Given the description of an element on the screen output the (x, y) to click on. 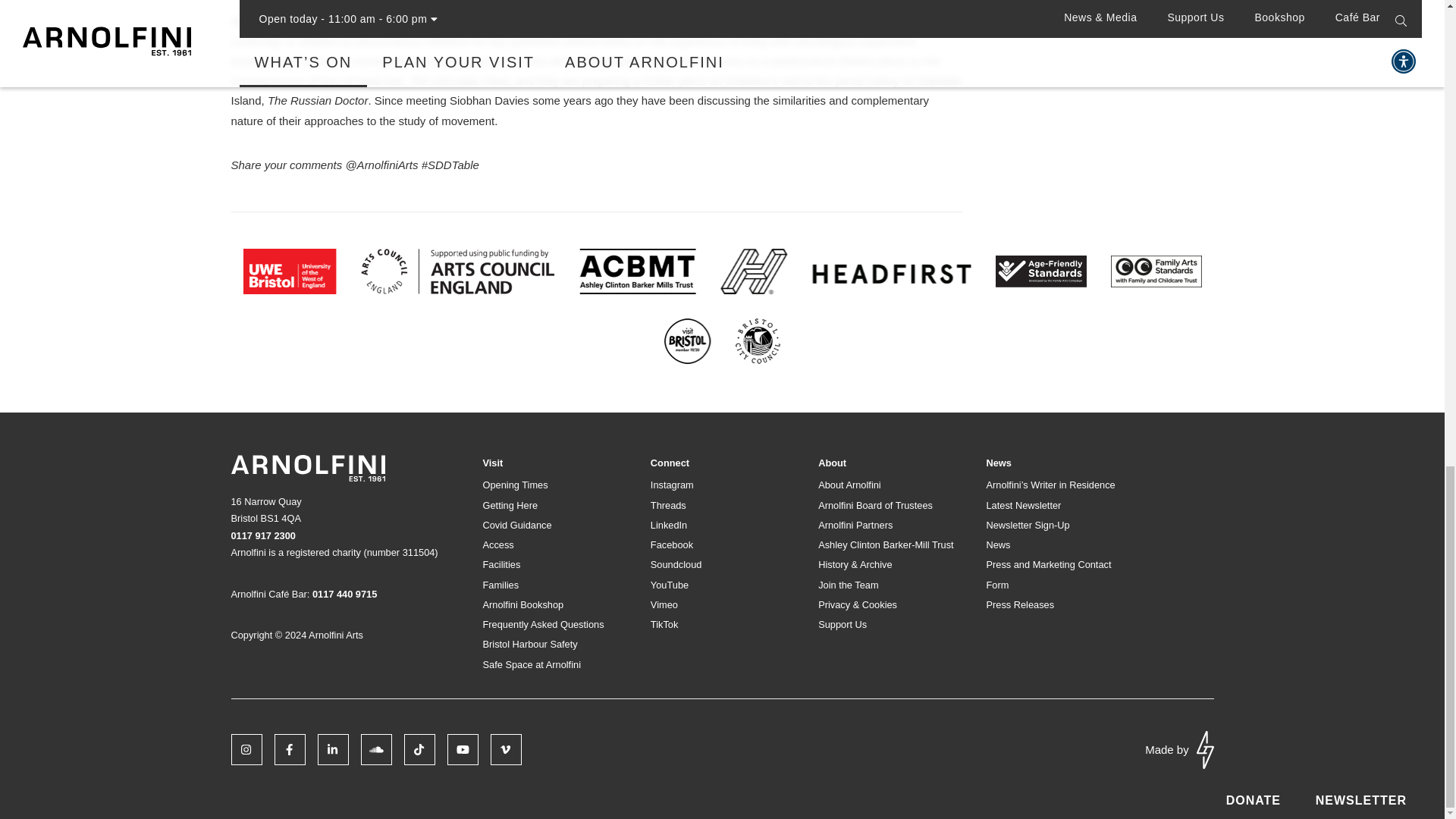
Subscribe (1153, 156)
